Given the description of an element on the screen output the (x, y) to click on. 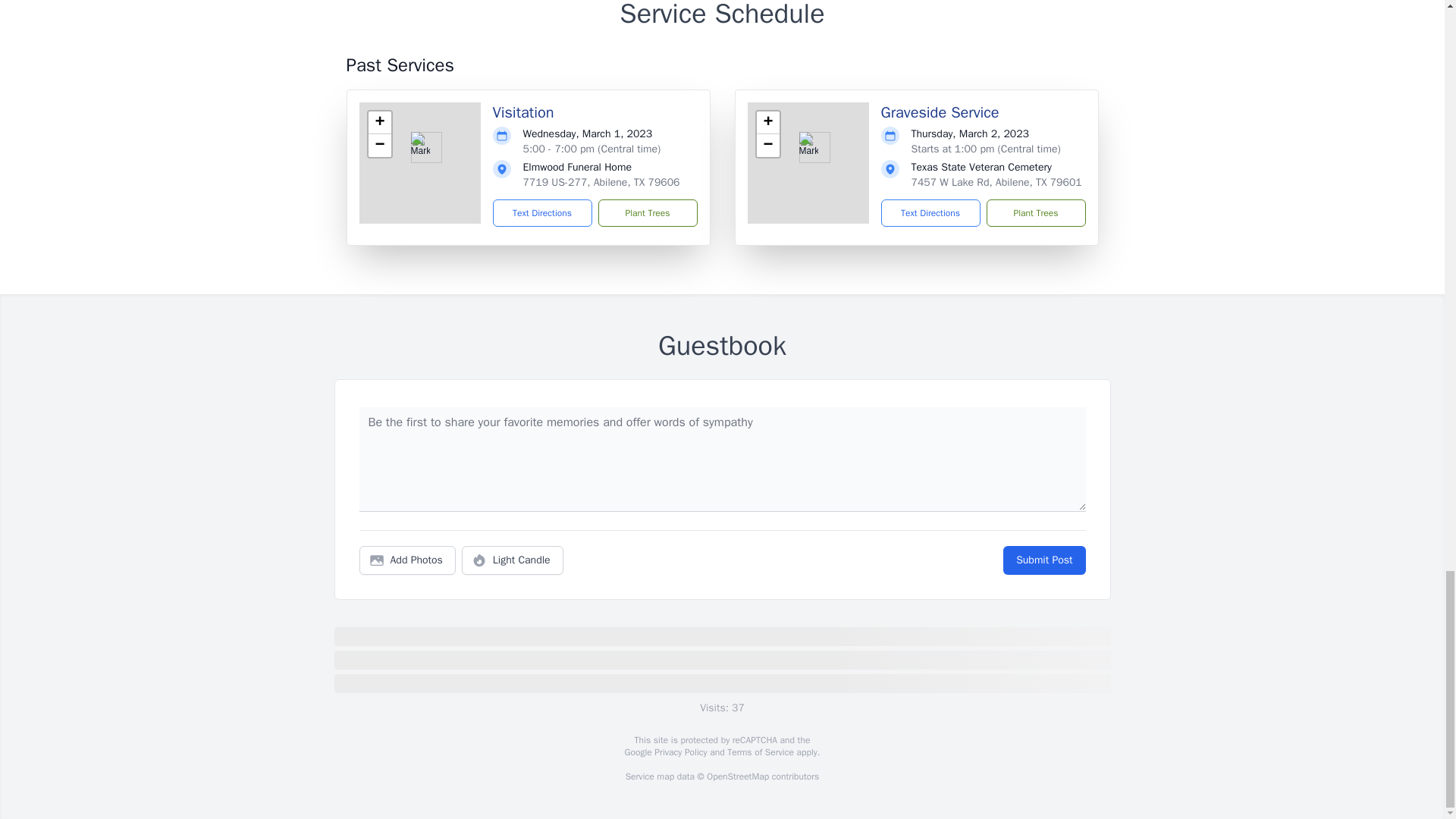
Plant Trees (646, 212)
Plant Trees (1034, 212)
Privacy Policy (679, 752)
7457 W Lake Rd, Abilene, TX 79601 (996, 182)
OpenStreetMap (737, 776)
Terms of Service (759, 752)
Zoom out (767, 145)
Zoom in (767, 122)
Text Directions (929, 212)
Zoom in (379, 122)
Zoom out (379, 145)
Submit Post (1043, 560)
Text Directions (542, 212)
7719 US-277, Abilene, TX 79606 (600, 182)
Add Photos (407, 560)
